Given the description of an element on the screen output the (x, y) to click on. 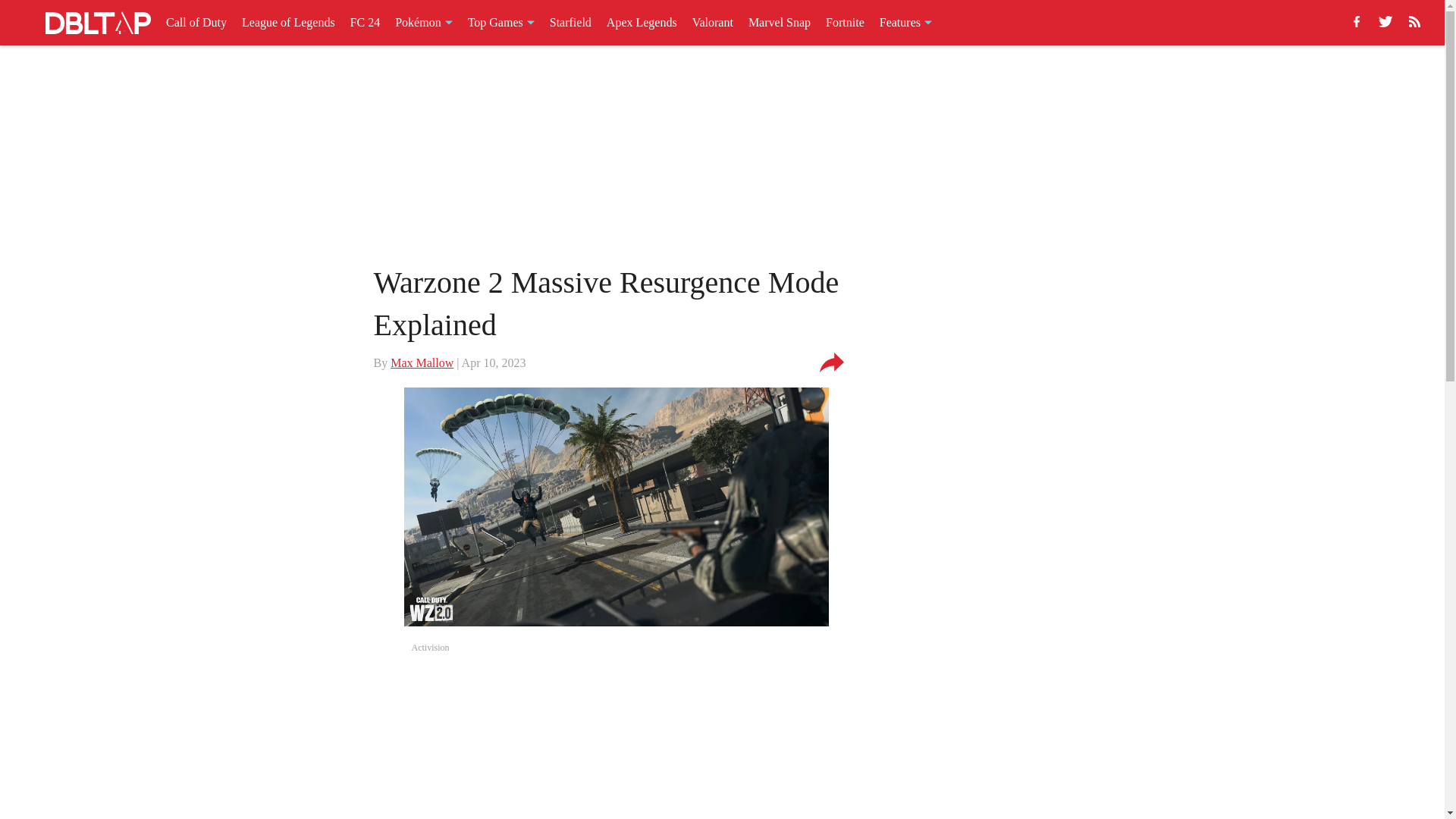
League of Legends (287, 22)
Max Mallow (421, 362)
Apex Legends (642, 22)
Marvel Snap (779, 22)
FC 24 (365, 22)
Starfield (570, 22)
Call of Duty (196, 22)
Fortnite (844, 22)
Features (905, 22)
Valorant (713, 22)
